Given the description of an element on the screen output the (x, y) to click on. 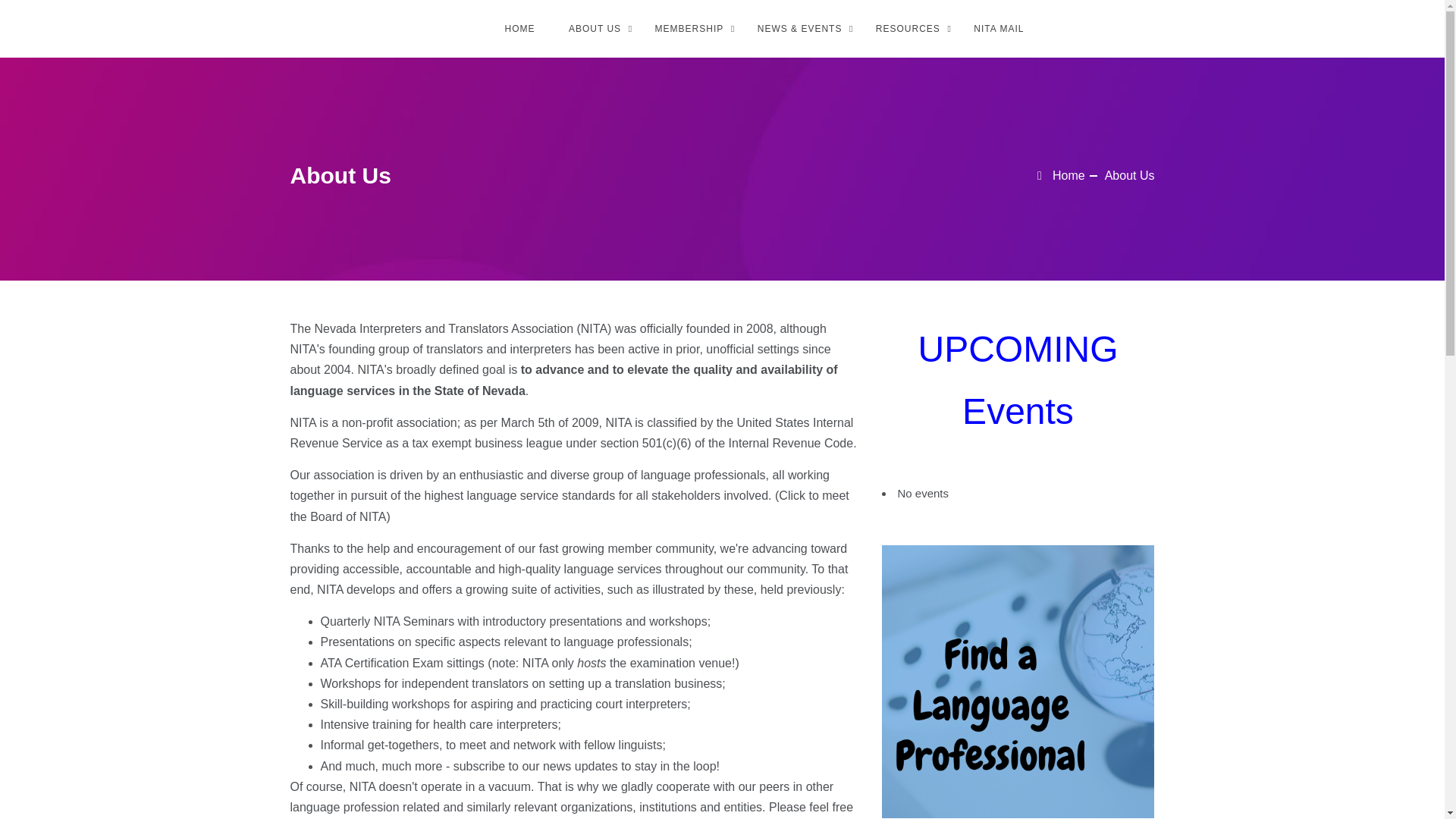
MEMBERSHIP (689, 28)
ABOUT US (594, 28)
RESOURCES (907, 28)
meet the Board of NITA (568, 505)
Presenting the Board of Directors of NITA (568, 505)
NITA MAIL (998, 28)
State of Nevada (479, 390)
HOME (519, 28)
Home (1060, 174)
About Us (1129, 174)
